Given the description of an element on the screen output the (x, y) to click on. 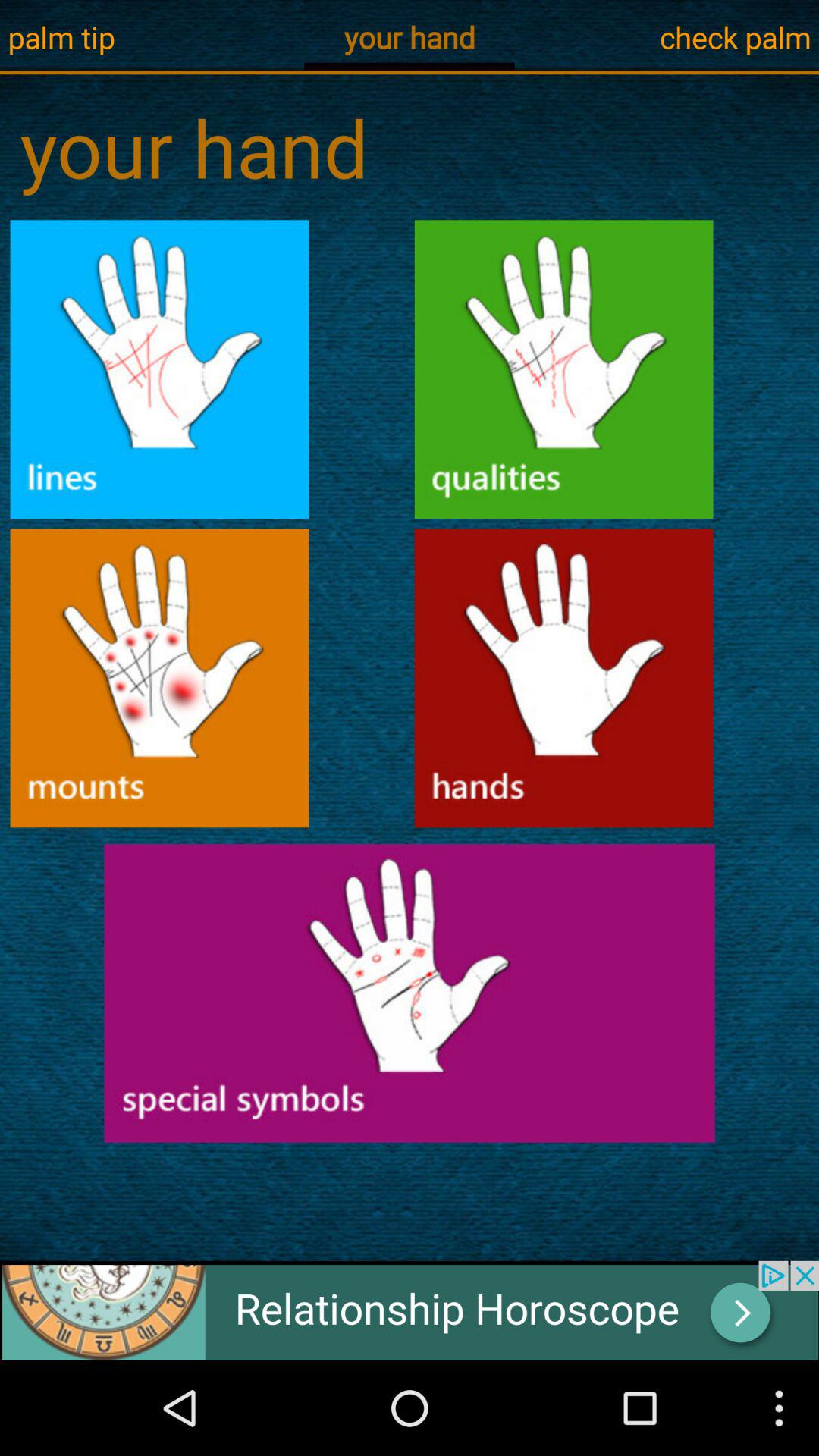
click the hand special symbols (409, 993)
